Given the description of an element on the screen output the (x, y) to click on. 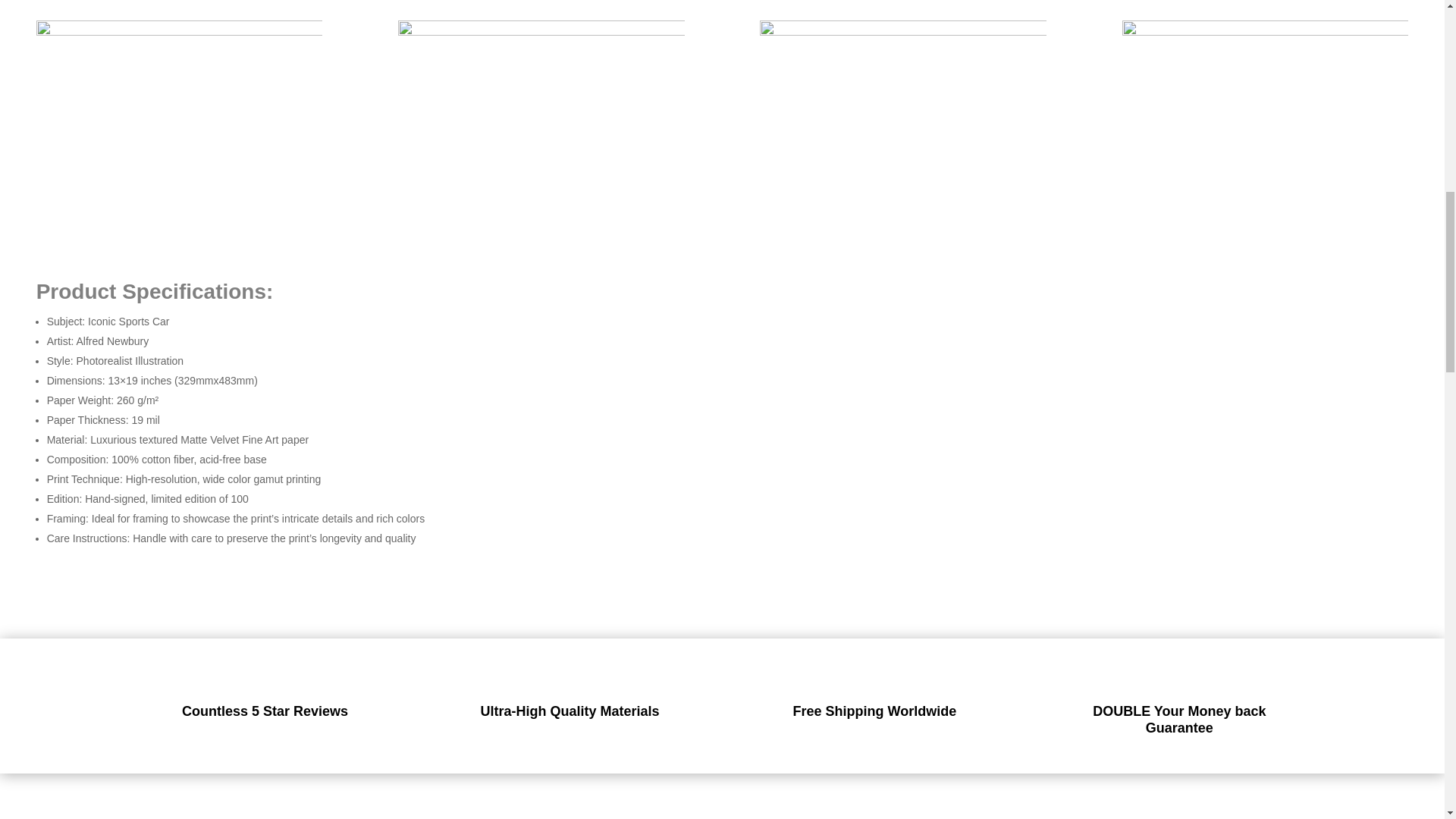
Screen Shot 2023-04-18 at 7.07.47 AM (179, 108)
Screen Shot 2023-04-18 at 5.58.27 AM (540, 145)
Screen Shot 2023-04-24 at 4.04.04 AM (903, 136)
Screen Shot 2023-04-24 at 6.02.53 PM (1265, 99)
